Given the description of an element on the screen output the (x, y) to click on. 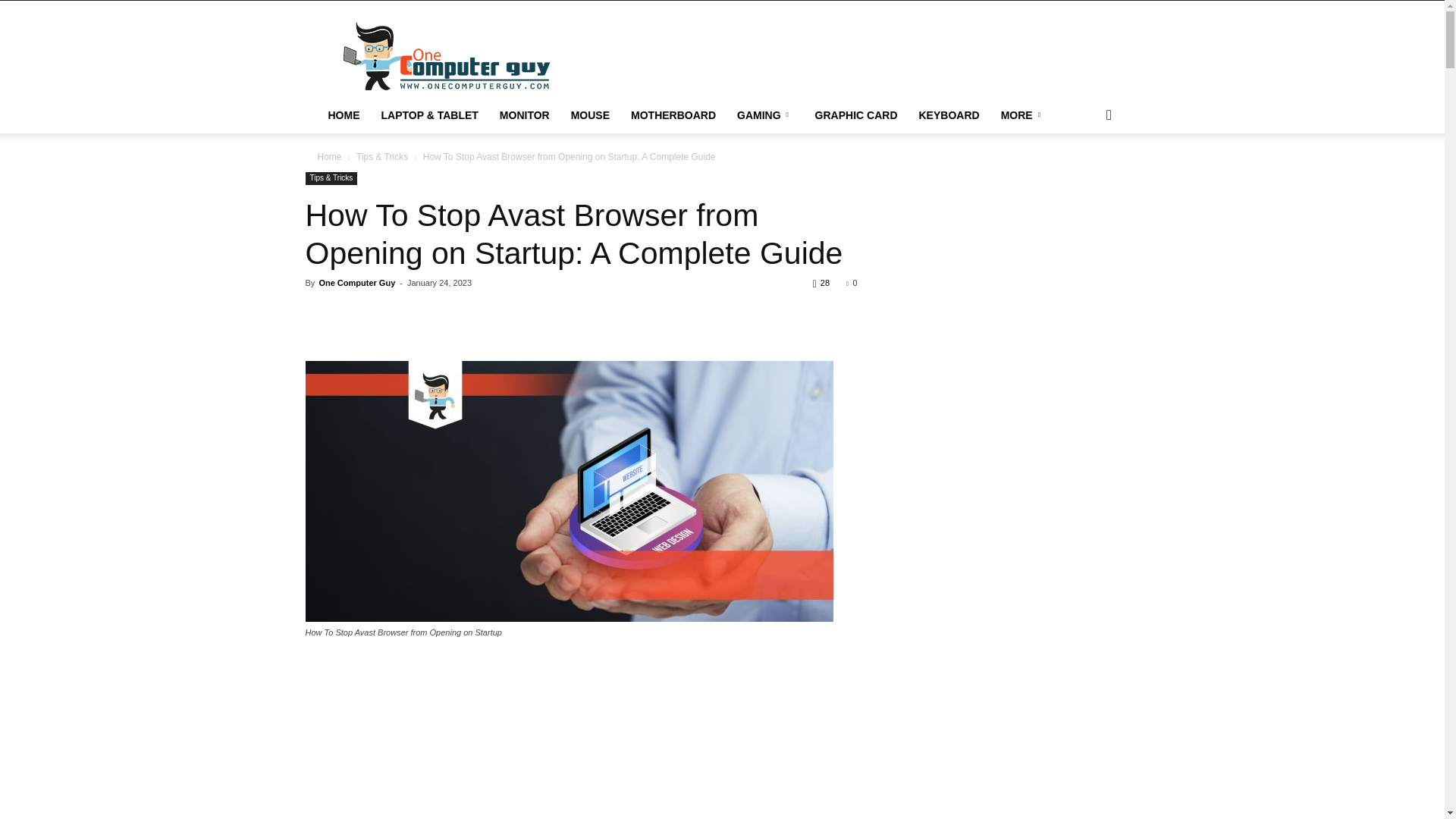
MOUSE (590, 115)
GRAPHIC CARD (856, 115)
GAMING (765, 115)
MONITOR (524, 115)
MORE (1023, 115)
HOME (343, 115)
MOTHERBOARD (673, 115)
KEYBOARD (949, 115)
